Given the description of an element on the screen output the (x, y) to click on. 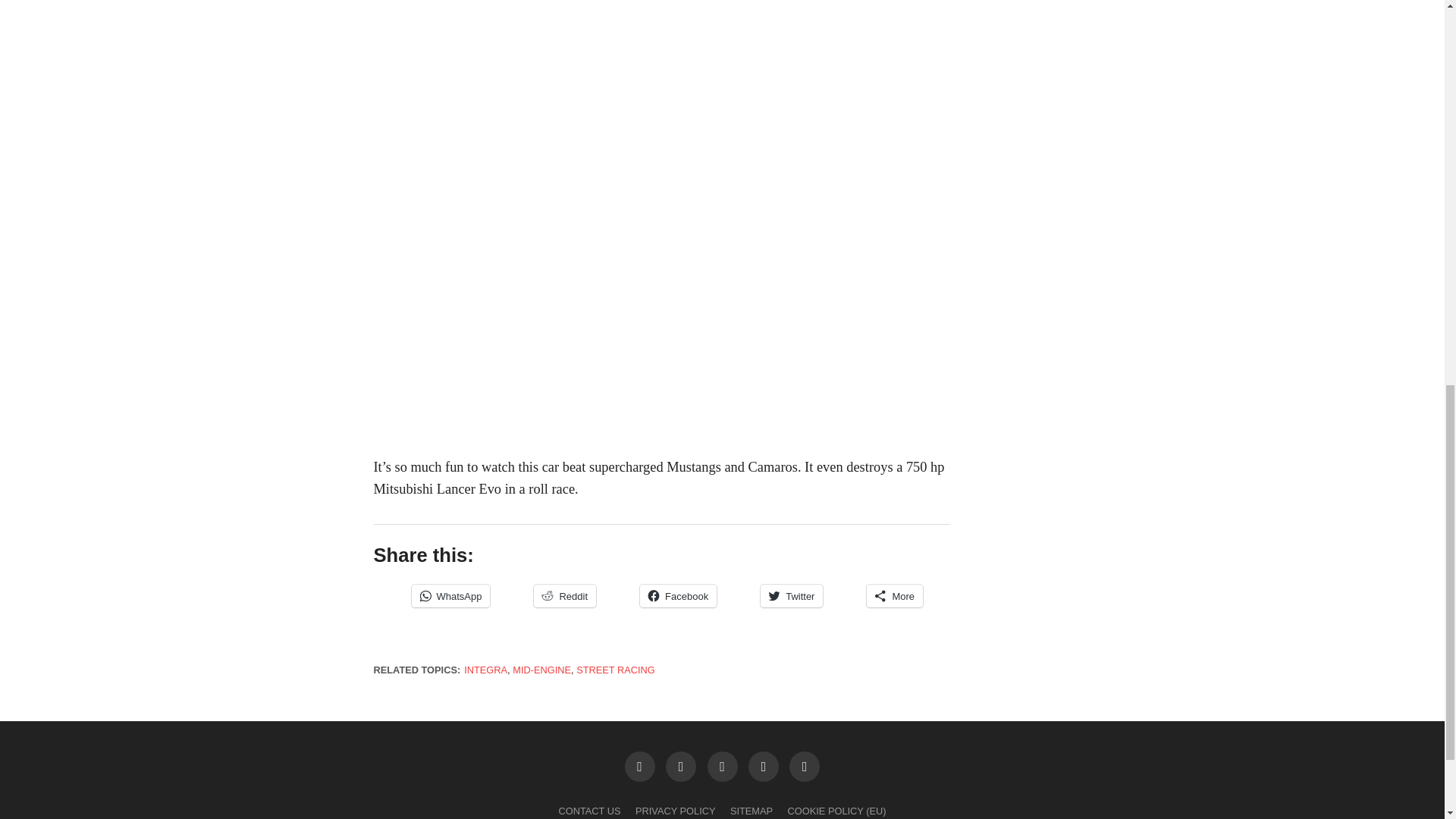
Twitter (791, 595)
More (894, 595)
WhatsApp (449, 595)
Reddit (564, 595)
Facebook (678, 595)
Click to share on Reddit (564, 595)
INTEGRA (485, 669)
STREET RACING (615, 669)
Click to share on WhatsApp (449, 595)
MID-ENGINE (541, 669)
